Given the description of an element on the screen output the (x, y) to click on. 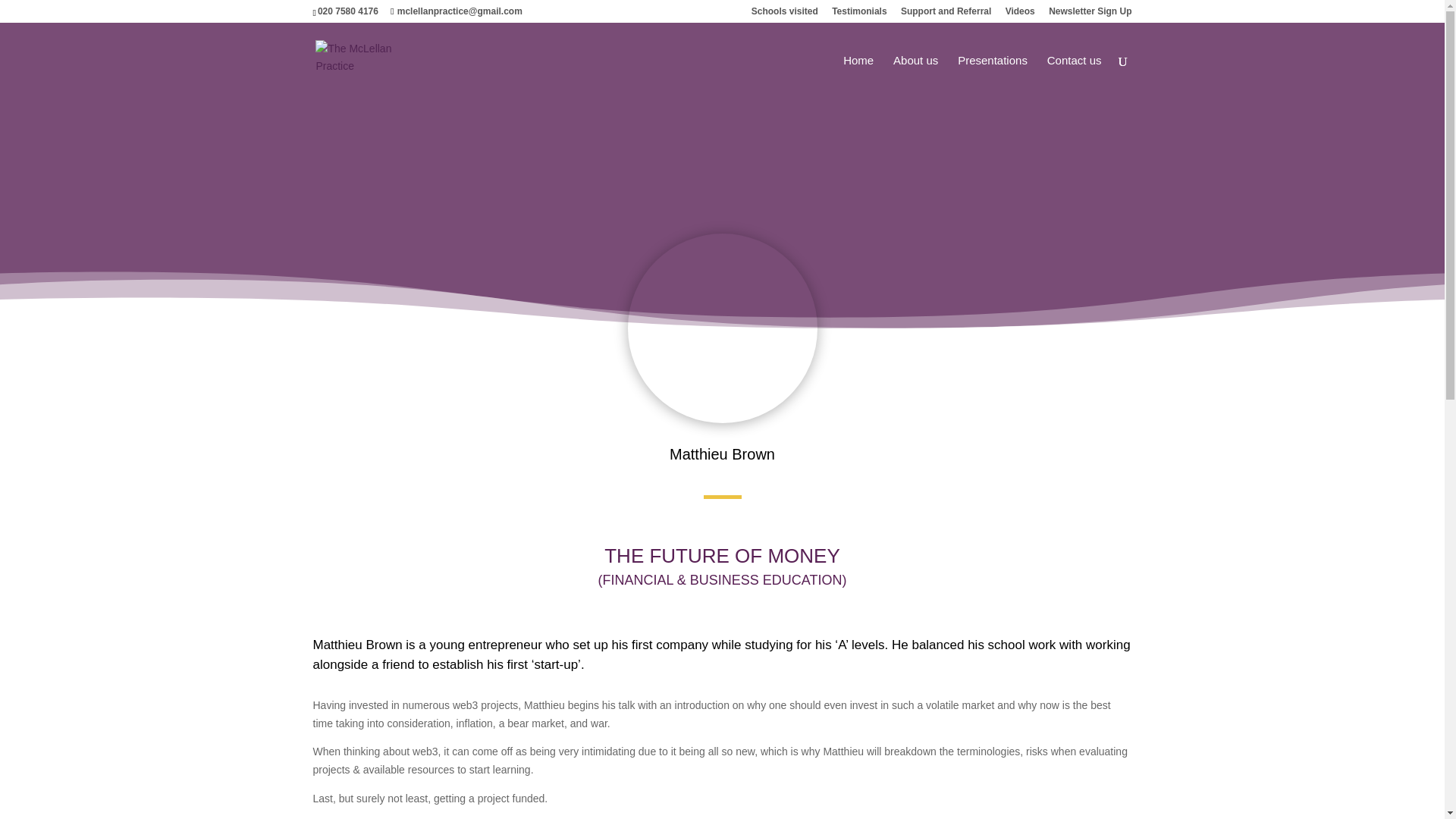
About us (915, 76)
Home (858, 76)
Newsletter Sign Up (1089, 14)
Support and Referral (946, 14)
Contact us (1074, 76)
Testimonials (858, 14)
Schools visited (784, 14)
Mattieu Brown (721, 328)
Videos (1020, 14)
Presentations (992, 76)
